Given the description of an element on the screen output the (x, y) to click on. 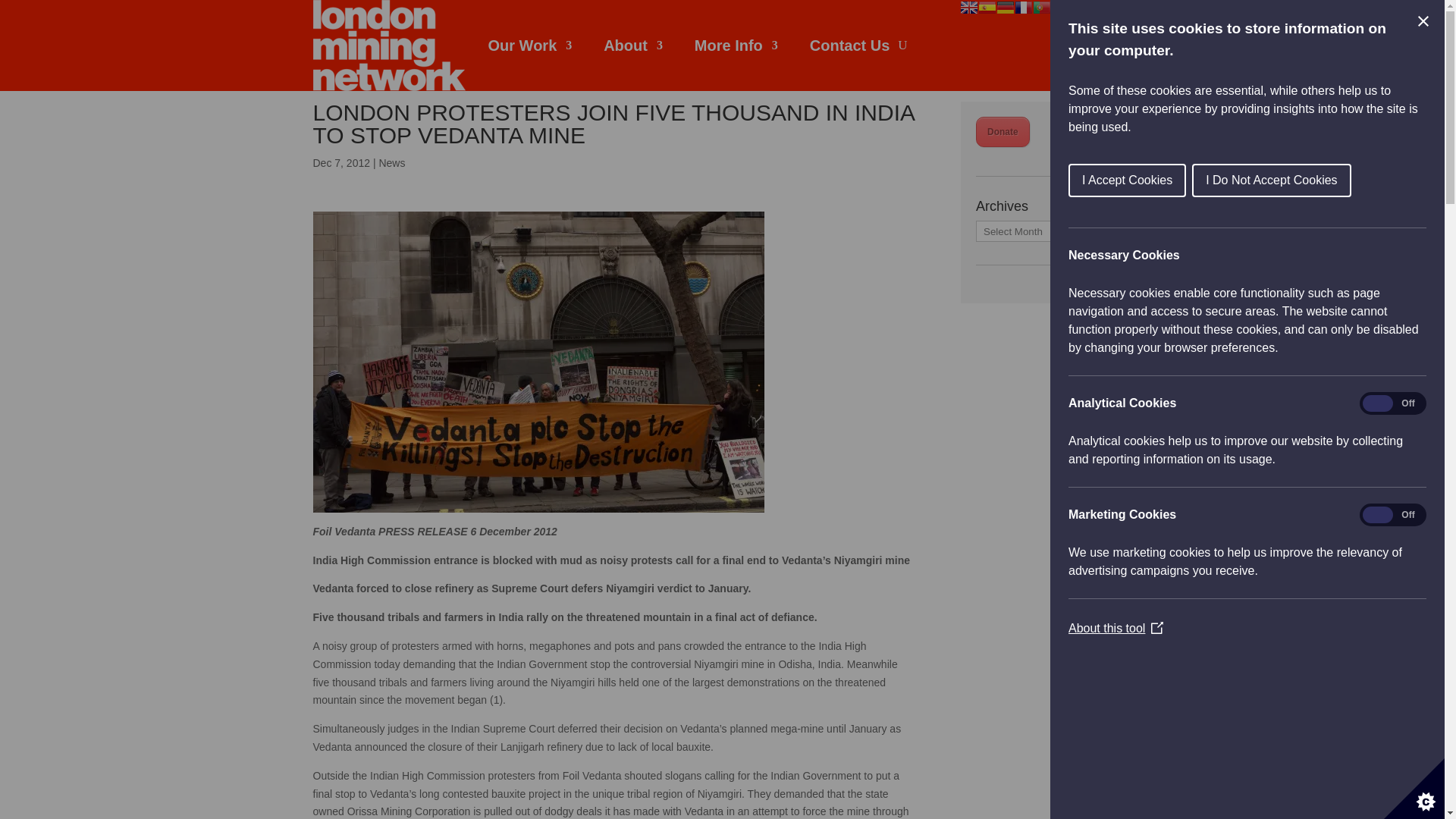
Our Work (529, 45)
English (968, 7)
About (633, 45)
Spanish (986, 7)
French (1023, 7)
German (1005, 7)
More Info (735, 45)
Portuguese (1041, 7)
